Given the description of an element on the screen output the (x, y) to click on. 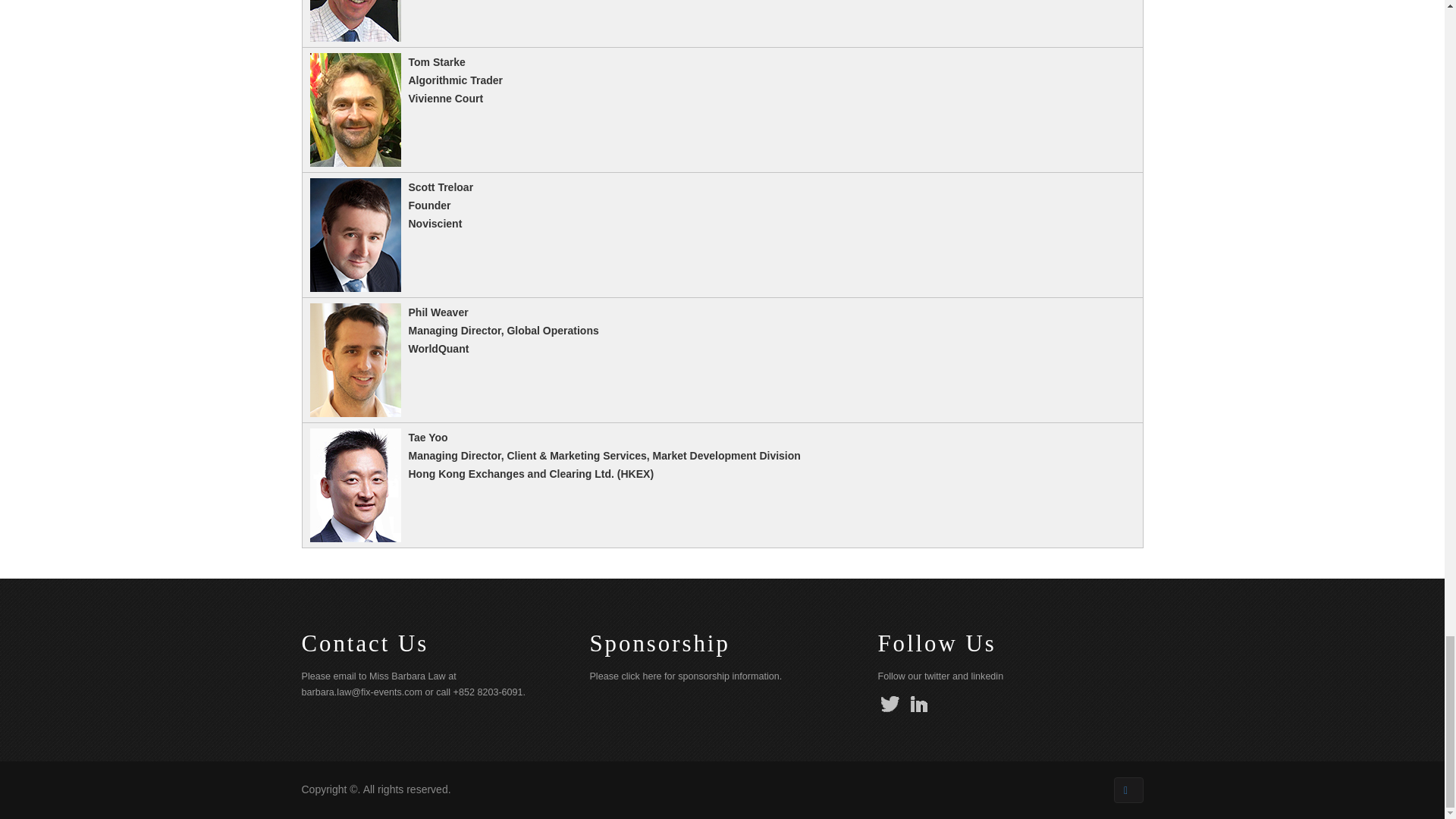
Please click here for sponsorship information. (685, 675)
